Given the description of an element on the screen output the (x, y) to click on. 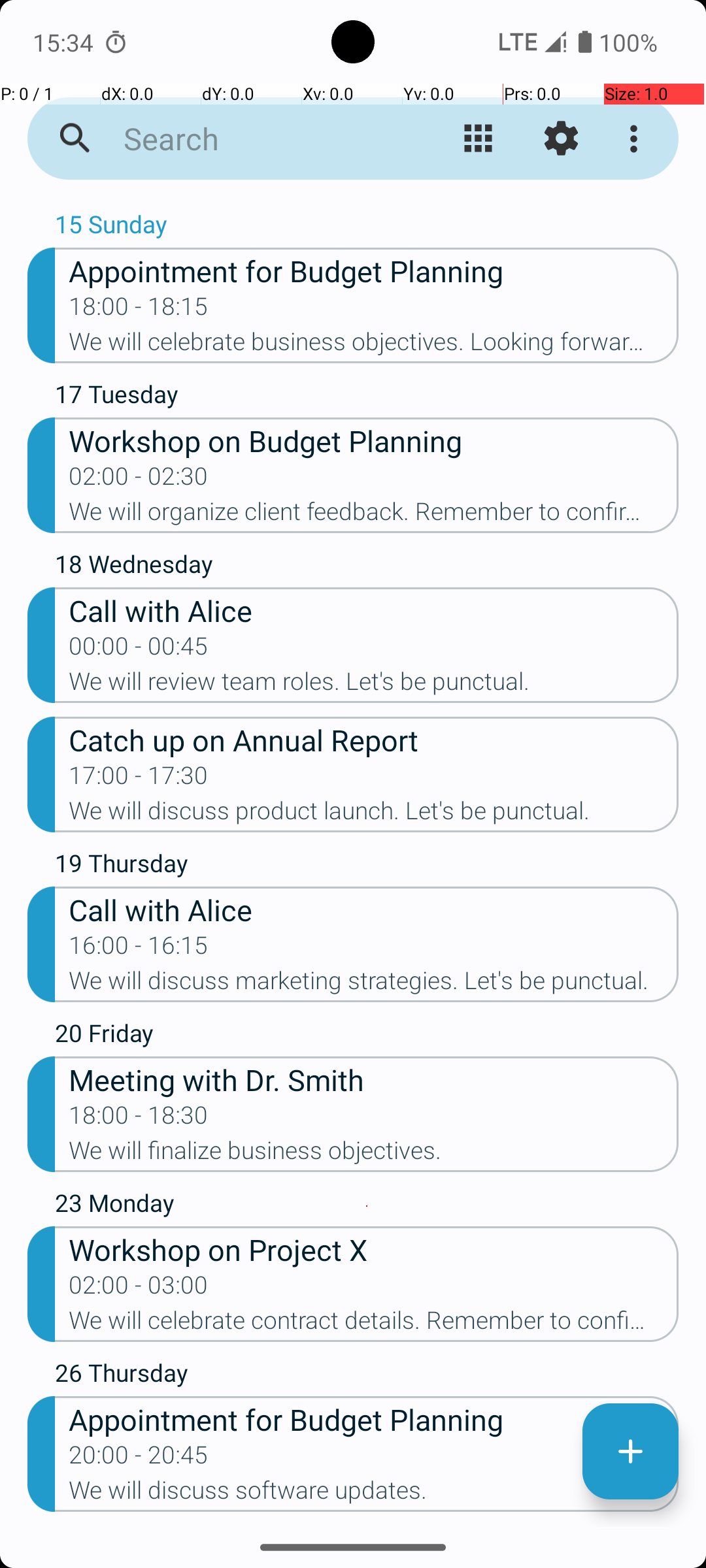
19 Thursday Element type: android.widget.TextView (366, 866)
23 Monday Element type: android.widget.TextView (366, 1205)
26 Thursday Element type: android.widget.TextView (366, 1375)
27 Friday Element type: android.widget.TextView (366, 1525)
18:00 - 18:15 Element type: android.widget.TextView (137, 309)
We will celebrate business objectives. Looking forward to productive discussions. Element type: android.widget.TextView (373, 345)
Workshop on Budget Planning Element type: android.widget.TextView (373, 439)
02:00 - 02:30 Element type: android.widget.TextView (137, 479)
We will organize client feedback. Remember to confirm attendance. Element type: android.widget.TextView (373, 515)
Call with Alice Element type: android.widget.TextView (373, 609)
00:00 - 00:45 Element type: android.widget.TextView (137, 649)
We will review team roles. Let's be punctual. Element type: android.widget.TextView (373, 684)
17:00 - 17:30 Element type: android.widget.TextView (137, 779)
We will discuss product launch. Let's be punctual. Element type: android.widget.TextView (373, 814)
16:00 - 16:15 Element type: android.widget.TextView (137, 948)
We will discuss marketing strategies. Let's be punctual. Element type: android.widget.TextView (373, 984)
18:00 - 18:30 Element type: android.widget.TextView (137, 1118)
We will finalize business objectives. Element type: android.widget.TextView (373, 1154)
Workshop on Project X Element type: android.widget.TextView (373, 1248)
02:00 - 03:00 Element type: android.widget.TextView (137, 1288)
We will celebrate contract details. Remember to confirm attendance. Element type: android.widget.TextView (373, 1323)
20:00 - 20:45 Element type: android.widget.TextView (137, 1458)
We will discuss software updates. Element type: android.widget.TextView (373, 1493)
